Given the description of an element on the screen output the (x, y) to click on. 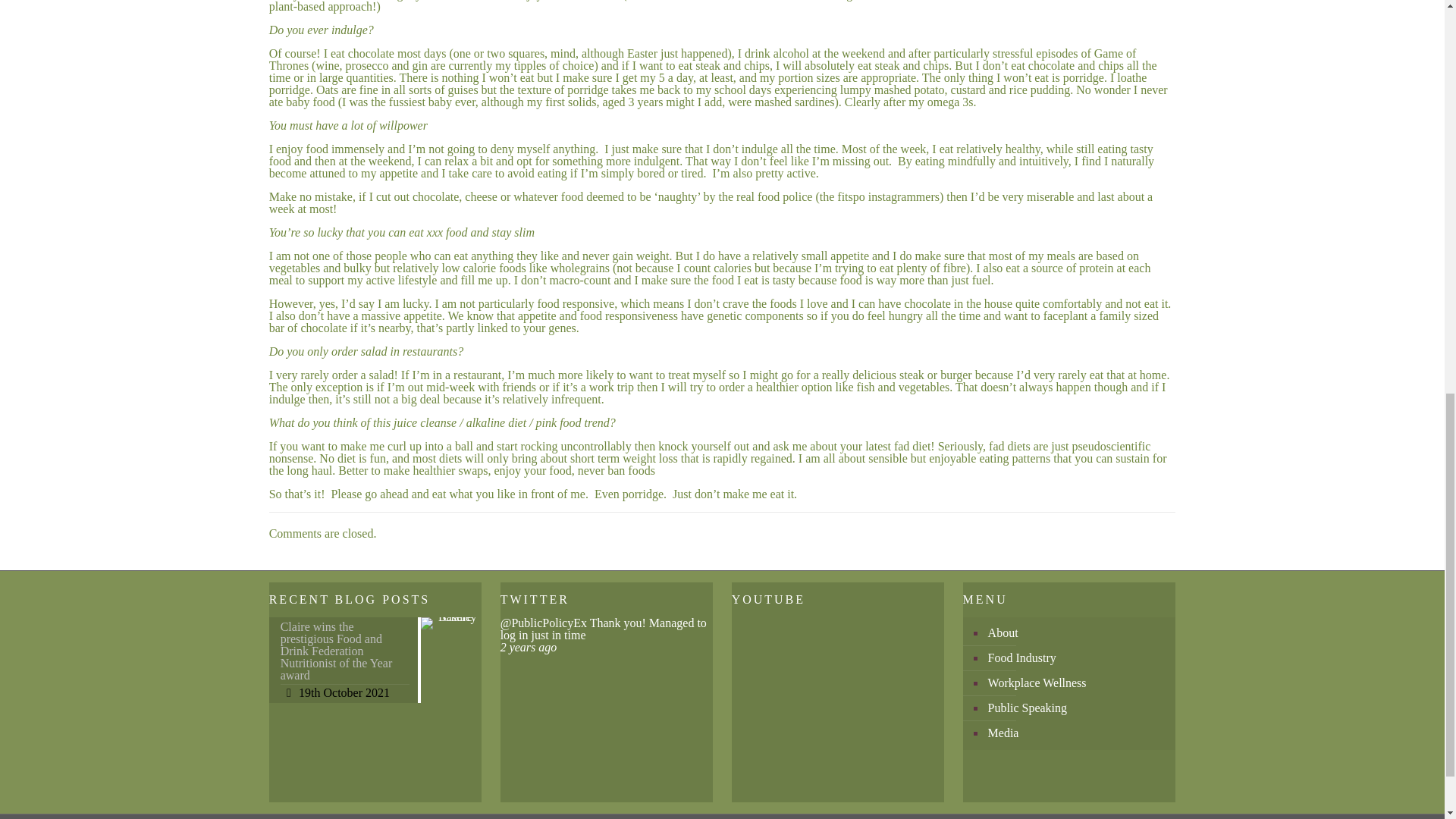
Media (1077, 733)
2 years ago (528, 646)
About (1077, 633)
Workplace Wellness (1077, 683)
Food Industry (1077, 658)
Public Speaking (1077, 708)
